Given the description of an element on the screen output the (x, y) to click on. 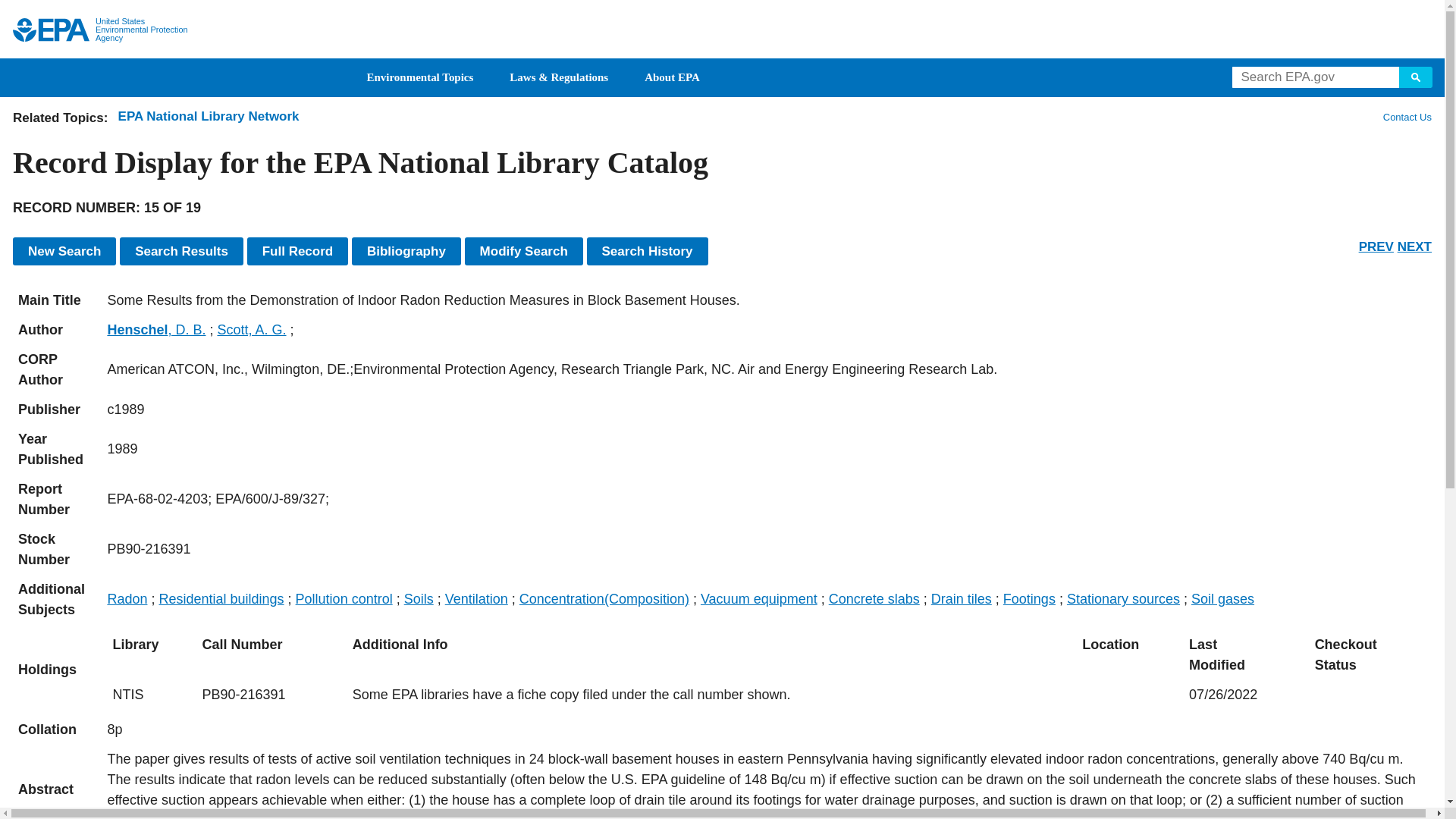
Contact Us (1406, 117)
Concrete slabs (874, 598)
Display Full Record (298, 251)
Search History (646, 251)
Show results in bibliographic format (406, 251)
Search (1415, 76)
Scott, A. G. (250, 329)
Radon (126, 598)
Footings (1029, 598)
